Given the description of an element on the screen output the (x, y) to click on. 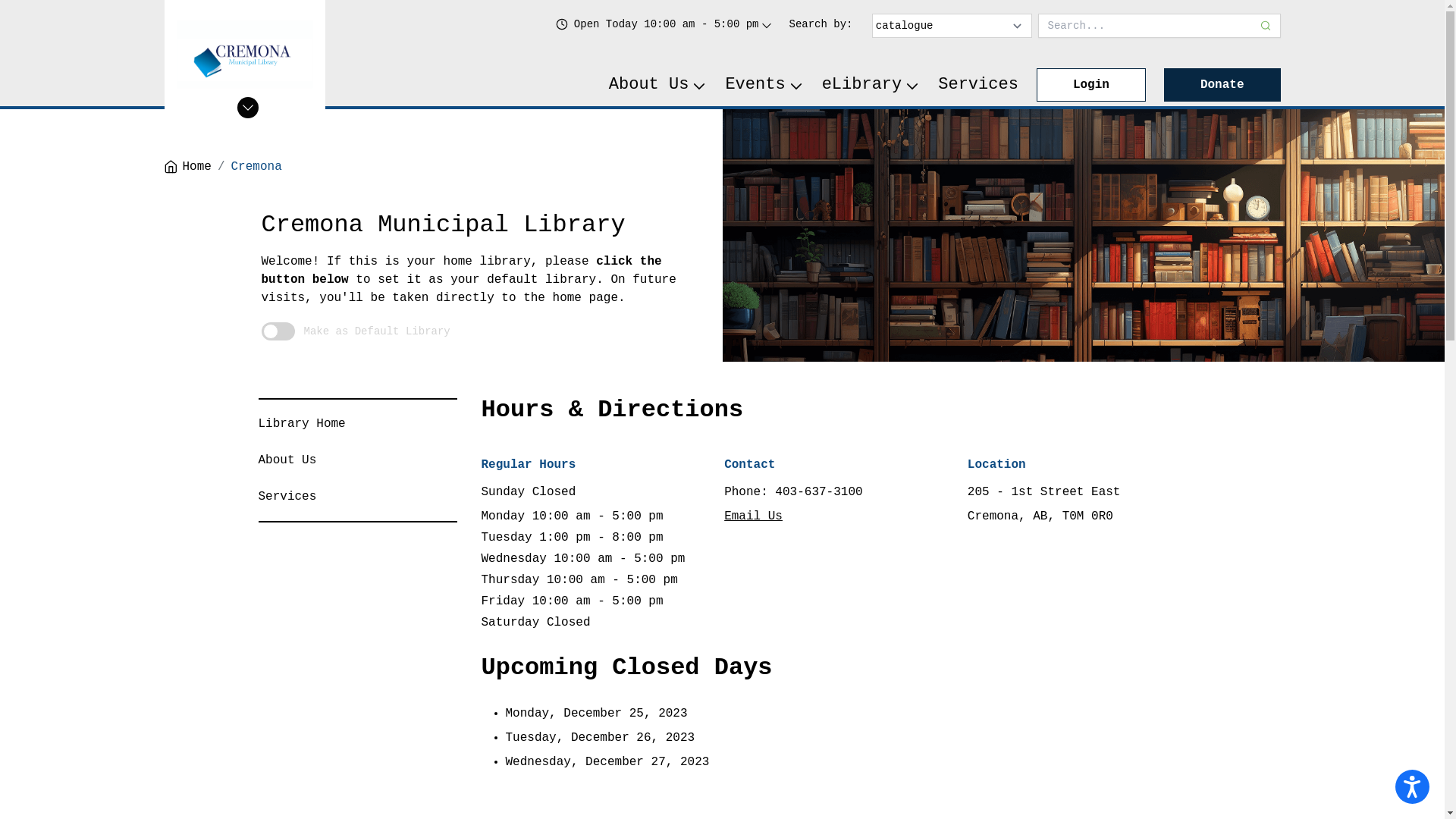
Cremona Element type: text (256, 166)
Events Element type: text (763, 84)
Services Element type: text (286, 496)
About Us Element type: text (657, 84)
Donate Element type: text (1222, 84)
About Us Element type: text (286, 460)
Email Us Element type: text (753, 516)
Services Element type: text (978, 84)
Library Home Element type: text (301, 423)
Home Element type: text (186, 166)
Login Element type: text (1090, 84)
eLibrary Element type: text (871, 84)
